Given the description of an element on the screen output the (x, y) to click on. 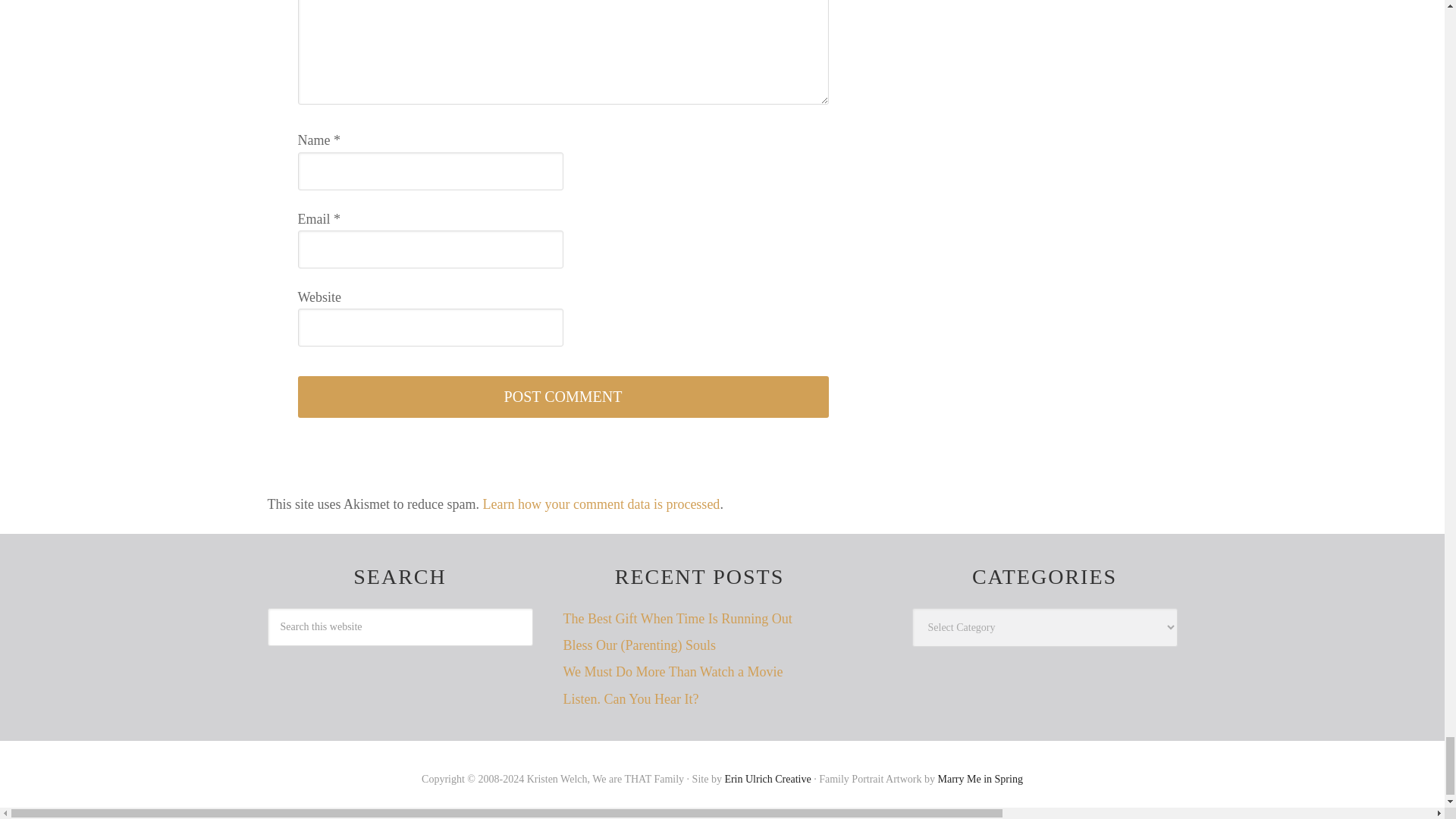
Post Comment (562, 396)
